Given the description of an element on the screen output the (x, y) to click on. 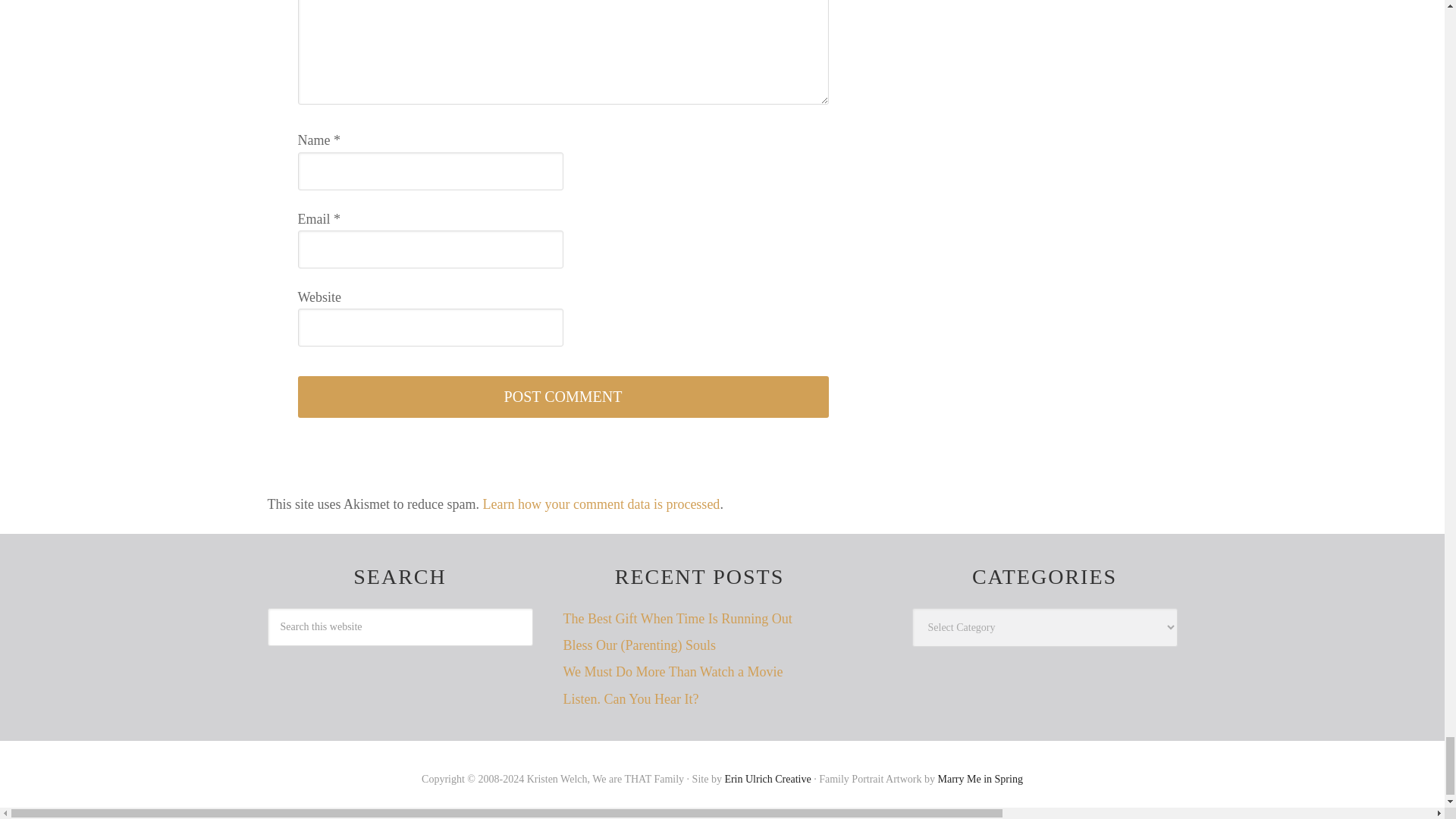
Post Comment (562, 396)
